Given the description of an element on the screen output the (x, y) to click on. 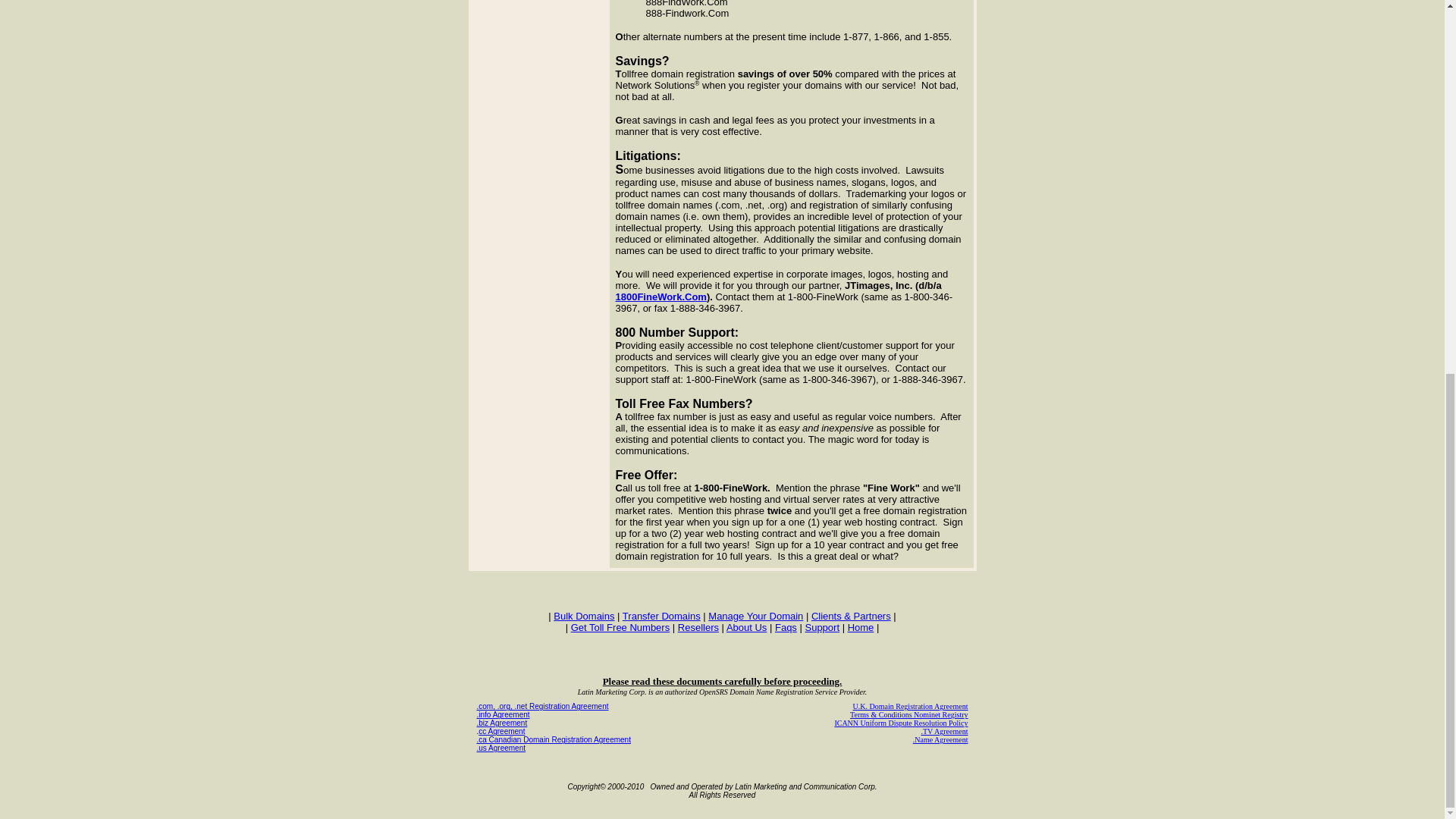
Transfer Domains (661, 615)
About Us (746, 626)
.info Agreement (502, 714)
Support (822, 626)
Bulk Domains (583, 615)
1800FineWork.Com (660, 296)
Resellers (698, 626)
Home (861, 627)
cc Agreement (501, 731)
Get Toll Free Numbers (619, 627)
